Given the description of an element on the screen output the (x, y) to click on. 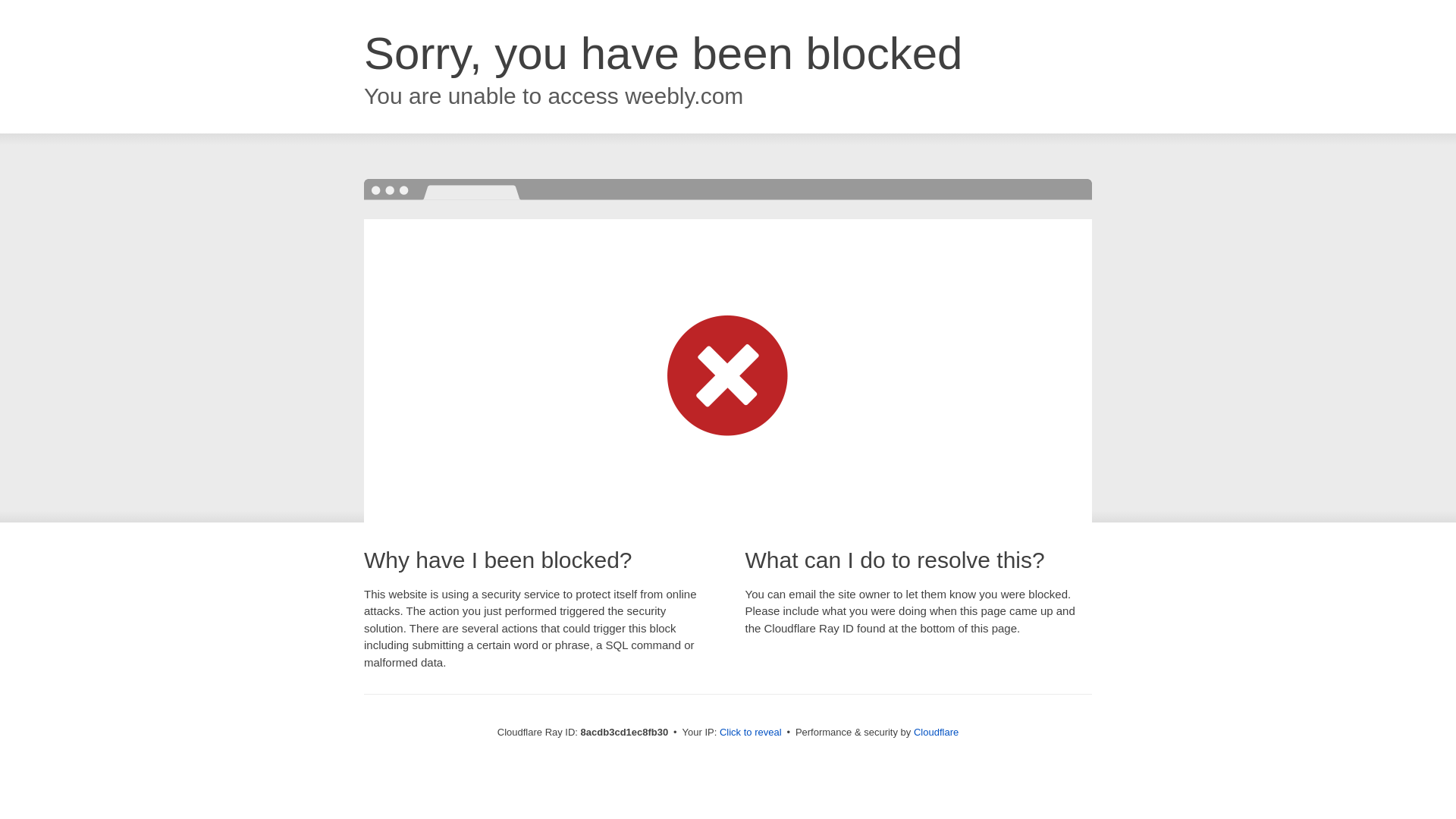
Click to reveal (750, 732)
Cloudflare (936, 731)
